Given the description of an element on the screen output the (x, y) to click on. 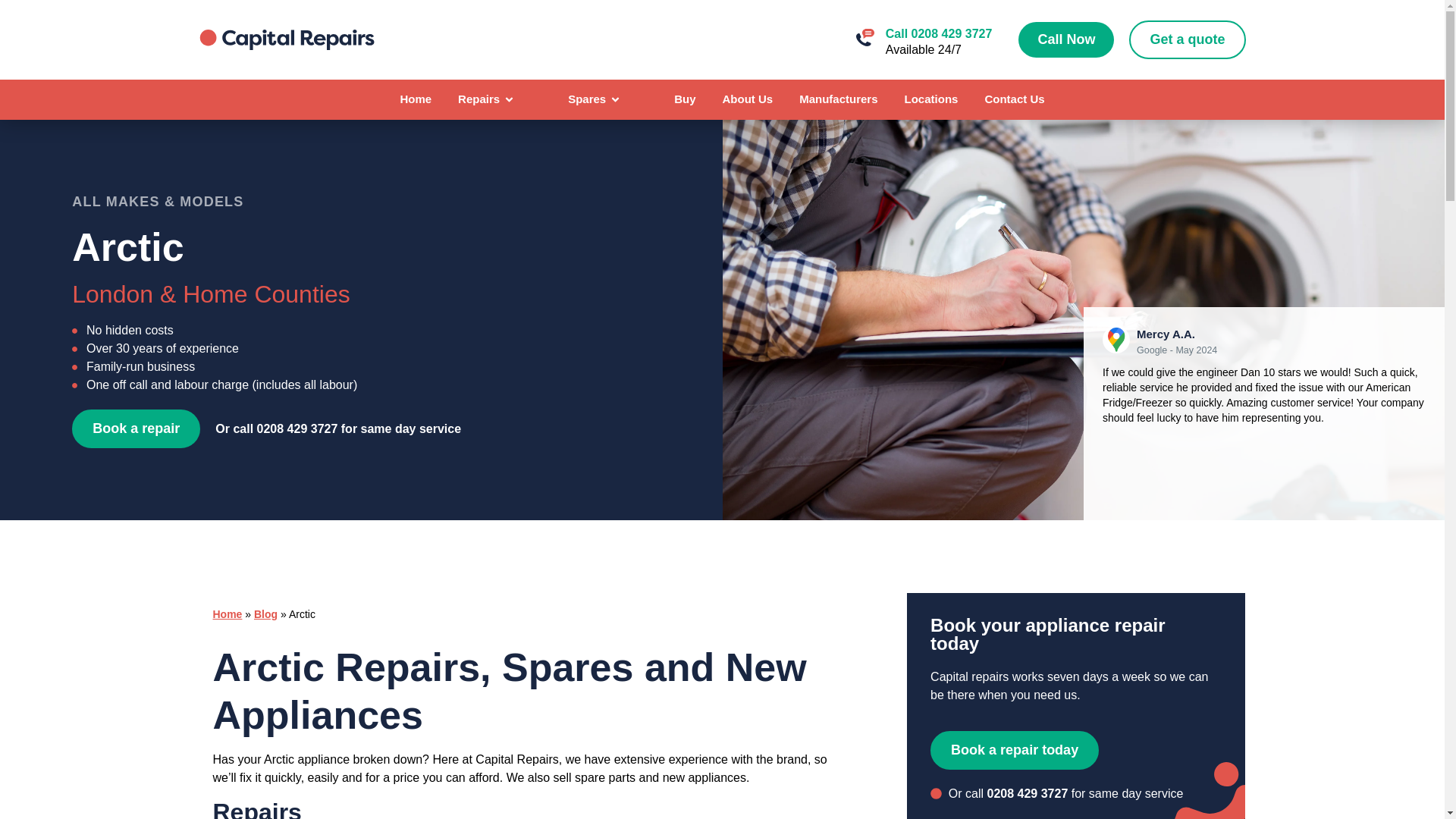
Get a quote (1186, 39)
Call Now (1065, 39)
Call 0208 429 3727 (938, 33)
